Given the description of an element on the screen output the (x, y) to click on. 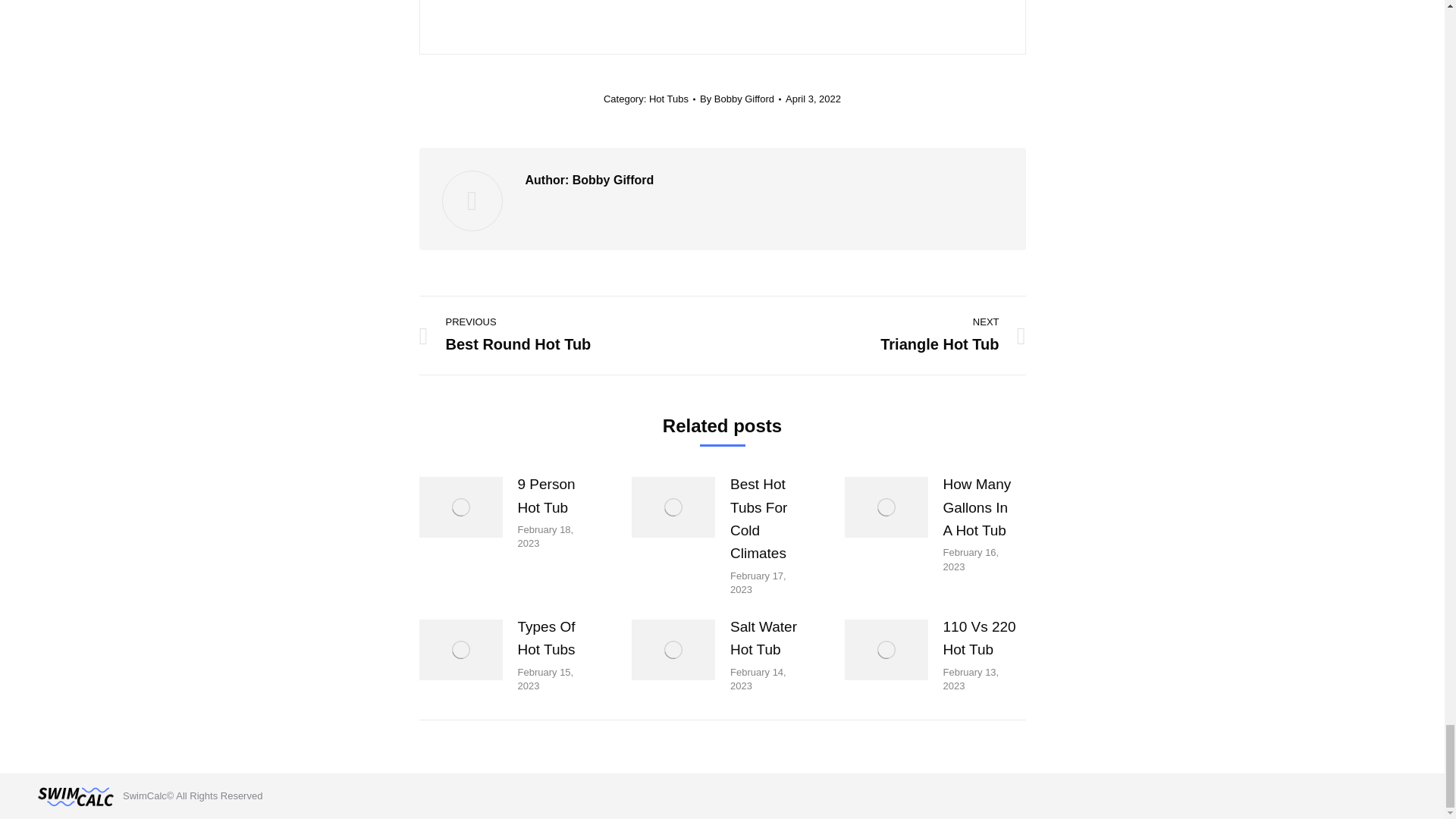
8:01 am (813, 99)
9 Person Hot Tub (555, 496)
Hot Tubs (668, 98)
How Many Gallons In A Hot Tub (981, 507)
View all posts by Bobby Gifford (740, 99)
April 3, 2022 (884, 335)
By Bobby Gifford (813, 99)
